Given the description of an element on the screen output the (x, y) to click on. 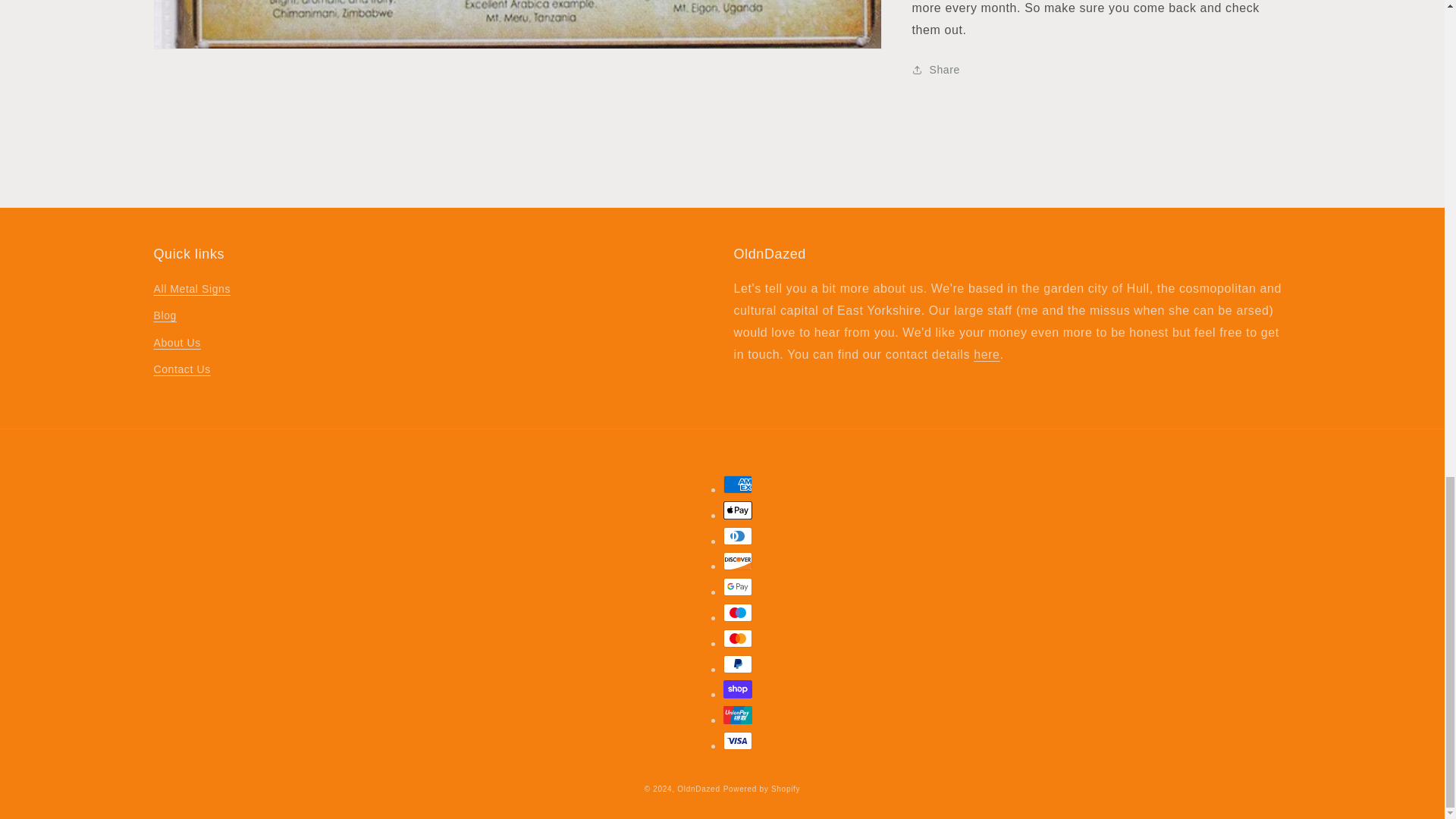
American Express (737, 484)
PayPal (737, 664)
Diners Club (737, 536)
Open media 1 in gallery view (517, 24)
Visa (737, 741)
Discover (737, 561)
Google Pay (737, 587)
Union Pay (737, 714)
Apple Pay (737, 510)
Contact Us (986, 354)
Mastercard (737, 638)
Shop Pay (737, 689)
Maestro (737, 612)
